Given the description of an element on the screen output the (x, y) to click on. 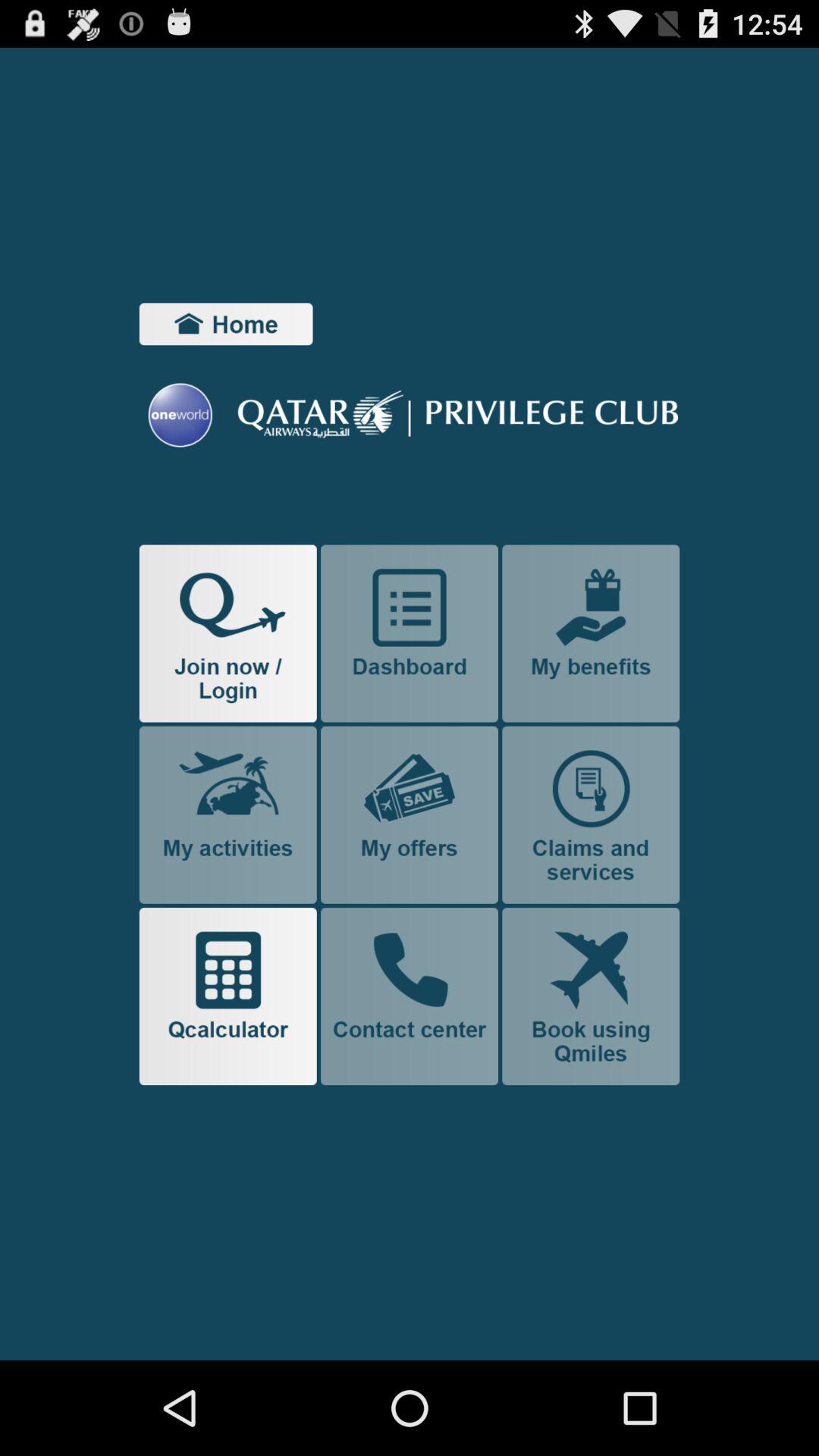
claim and service (590, 814)
